Given the description of an element on the screen output the (x, y) to click on. 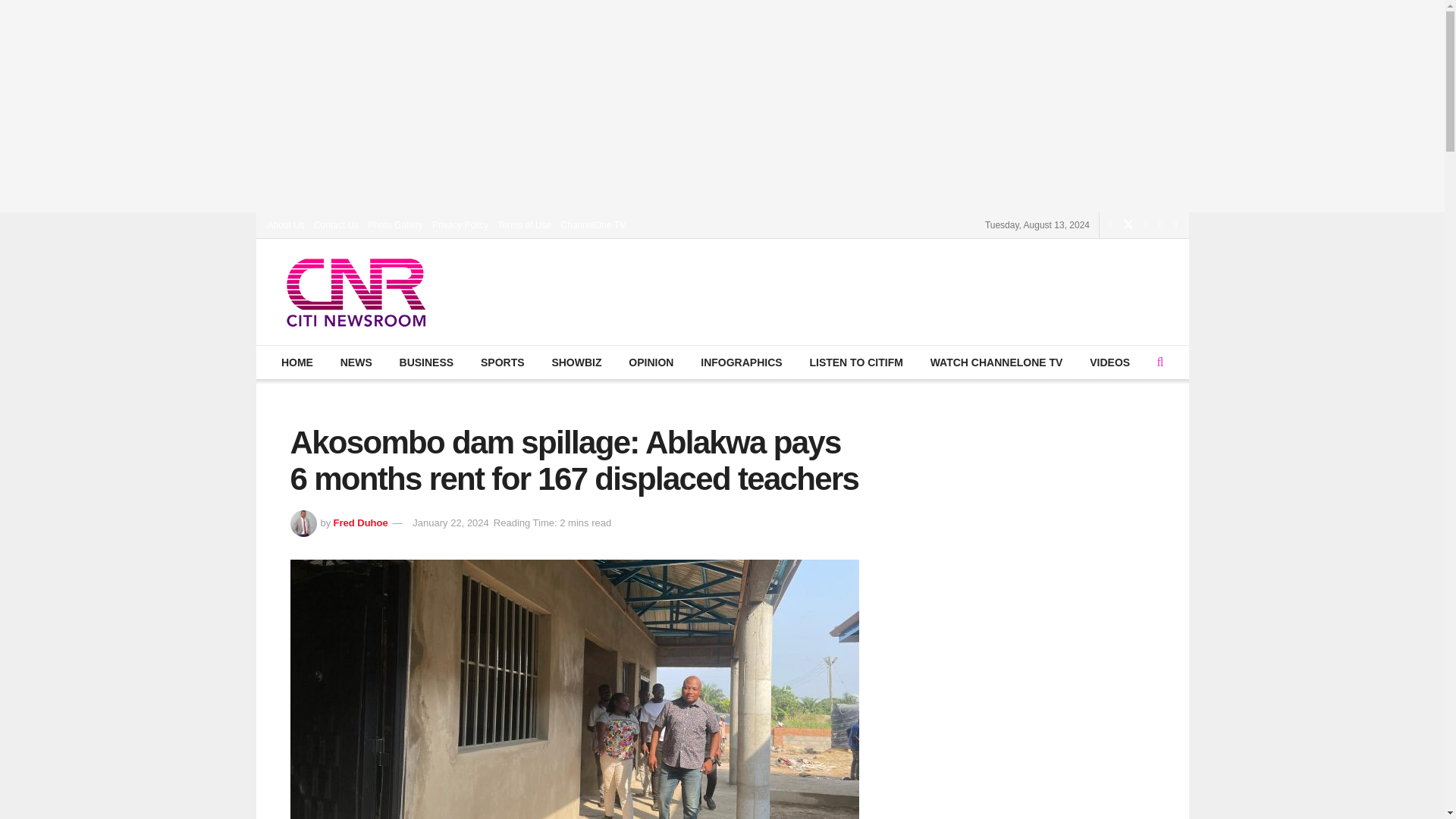
Terms of Use (524, 225)
INFOGRAPHICS (740, 362)
Privacy Policy (460, 225)
SHOWBIZ (576, 362)
Posts by Fred Duhoe (360, 522)
BUSINESS (425, 362)
Contact Us (336, 225)
WATCH CHANNELONE TV (996, 362)
LISTEN TO CITIFM (855, 362)
